Given the description of an element on the screen output the (x, y) to click on. 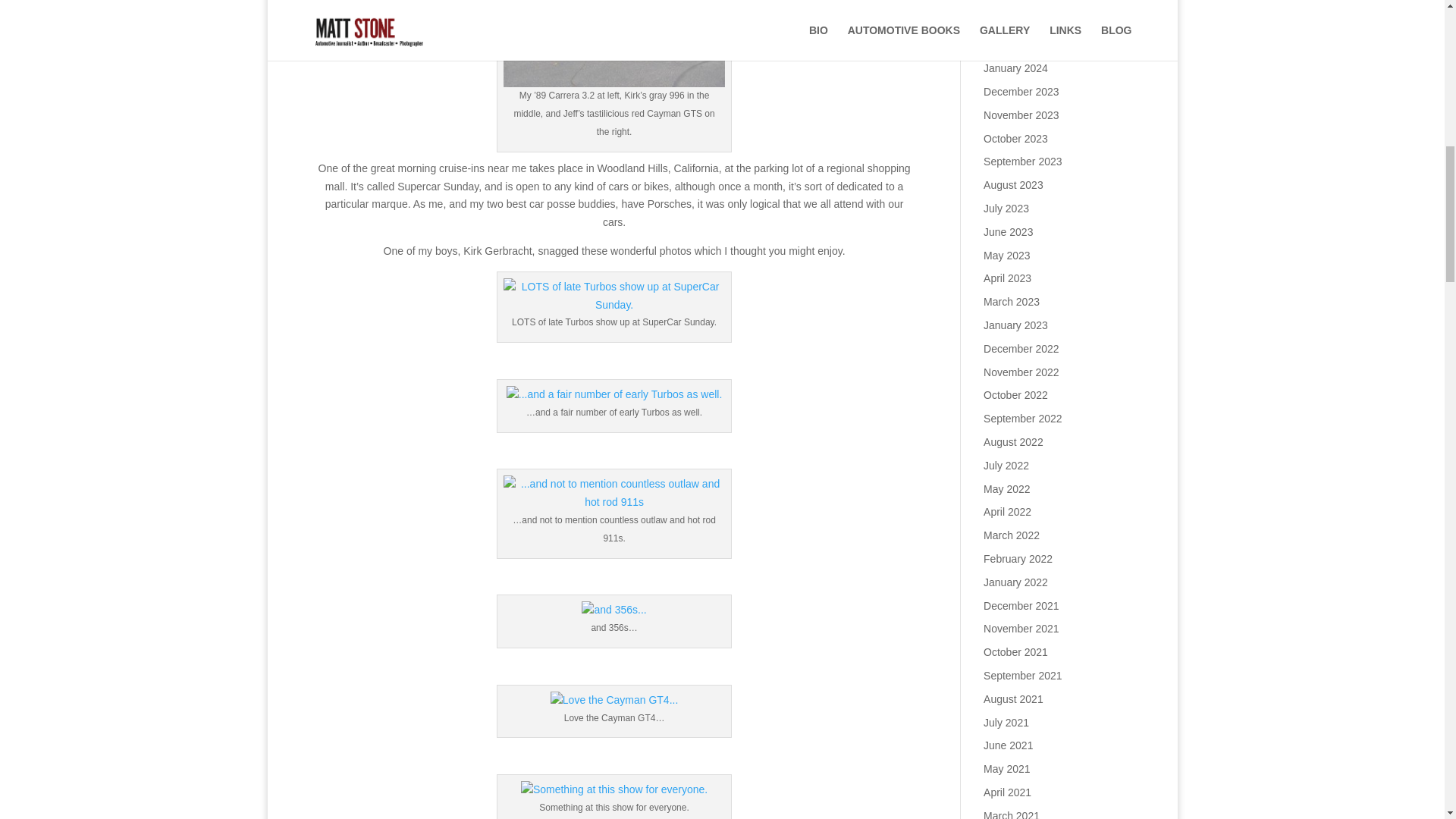
December 2022 (1021, 348)
December 2023 (1021, 91)
June 2023 (1008, 232)
September 2023 (1023, 161)
January 2023 (1016, 325)
October 2023 (1016, 138)
August 2023 (1013, 184)
March 2024 (1011, 44)
January 2024 (1016, 68)
May 2023 (1006, 255)
